Given the description of an element on the screen output the (x, y) to click on. 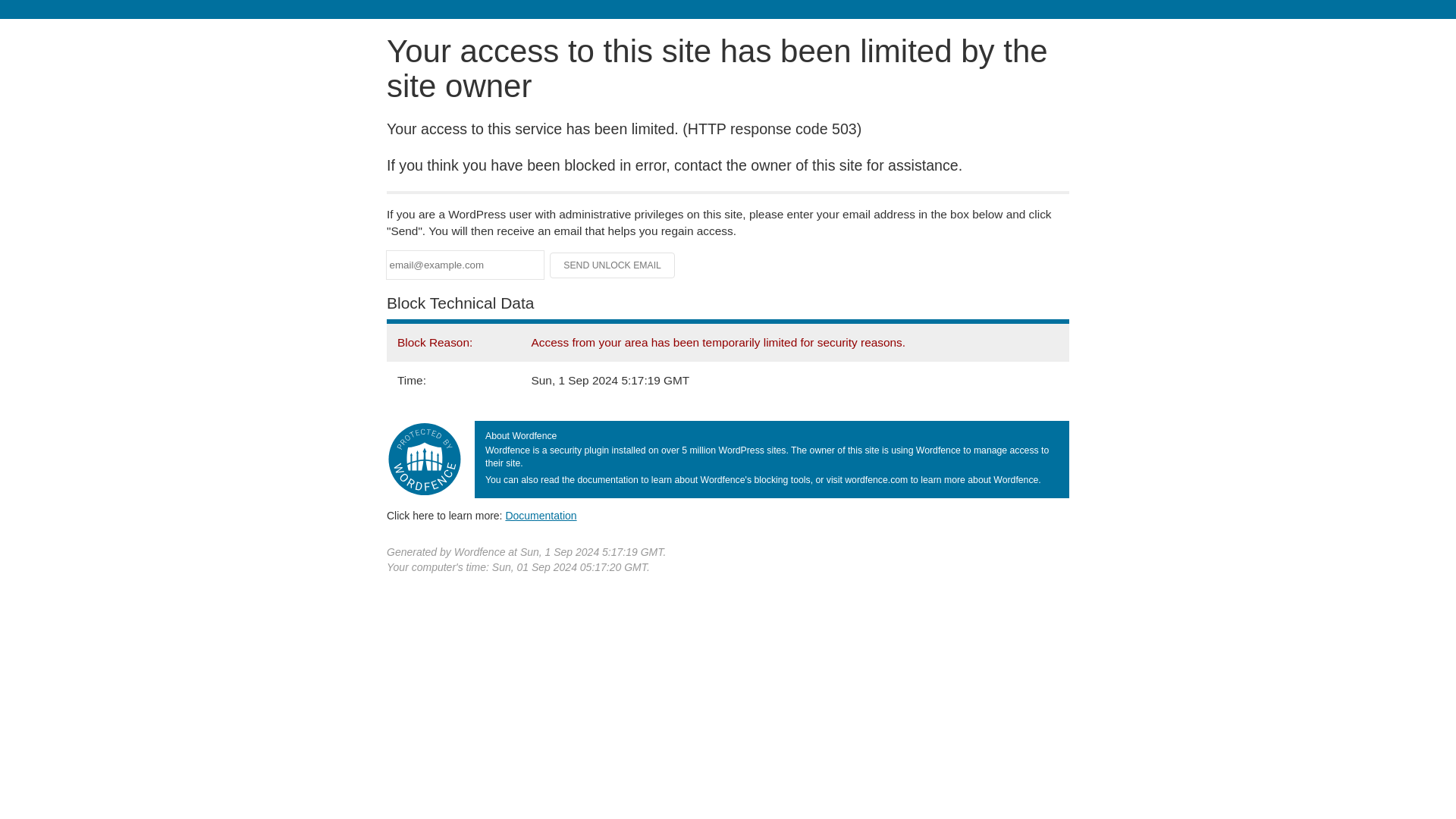
Send Unlock Email (612, 265)
Send Unlock Email (612, 265)
Documentation (540, 515)
